Given the description of an element on the screen output the (x, y) to click on. 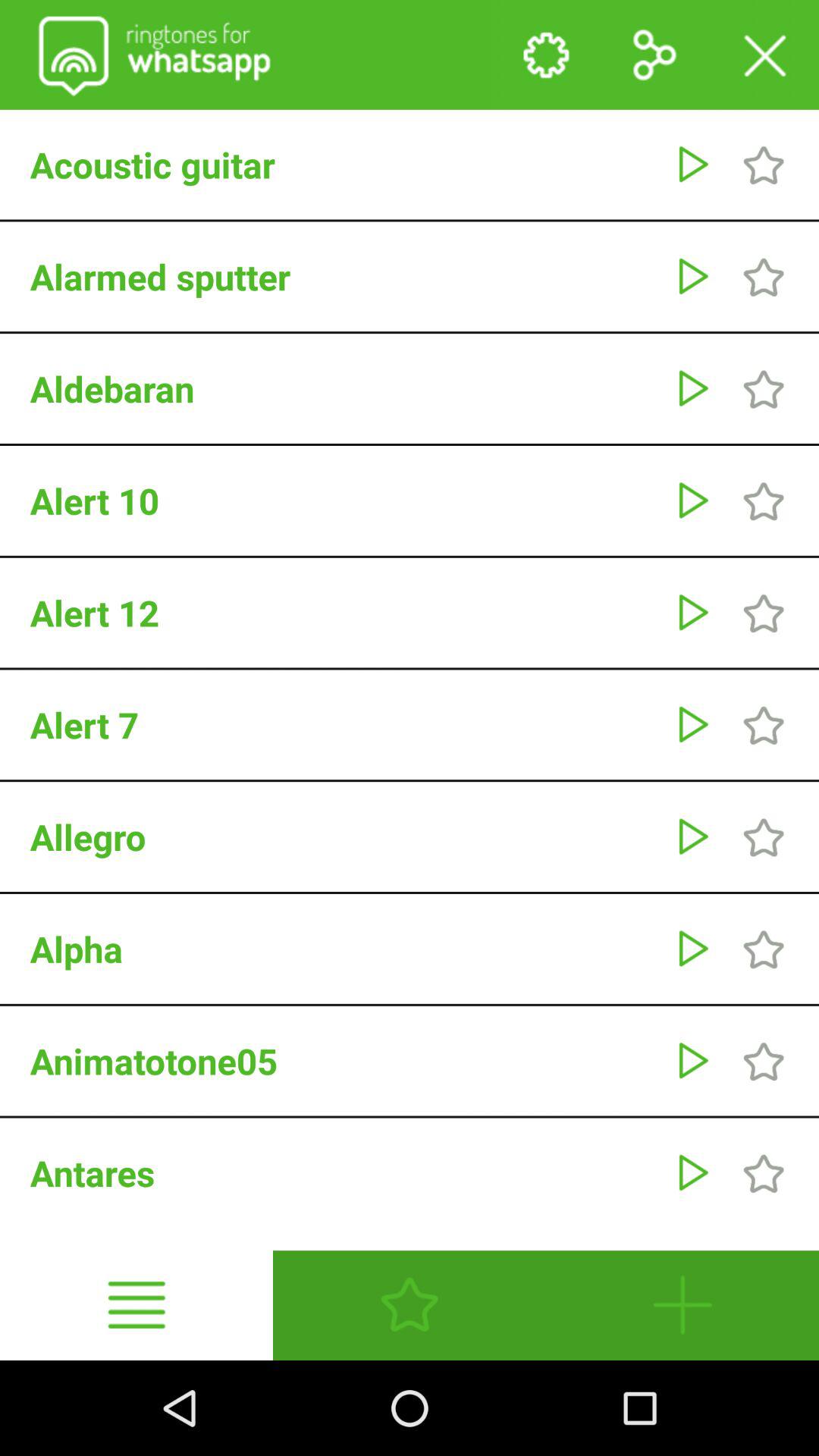
flip to alert 12 icon (344, 612)
